Given the description of an element on the screen output the (x, y) to click on. 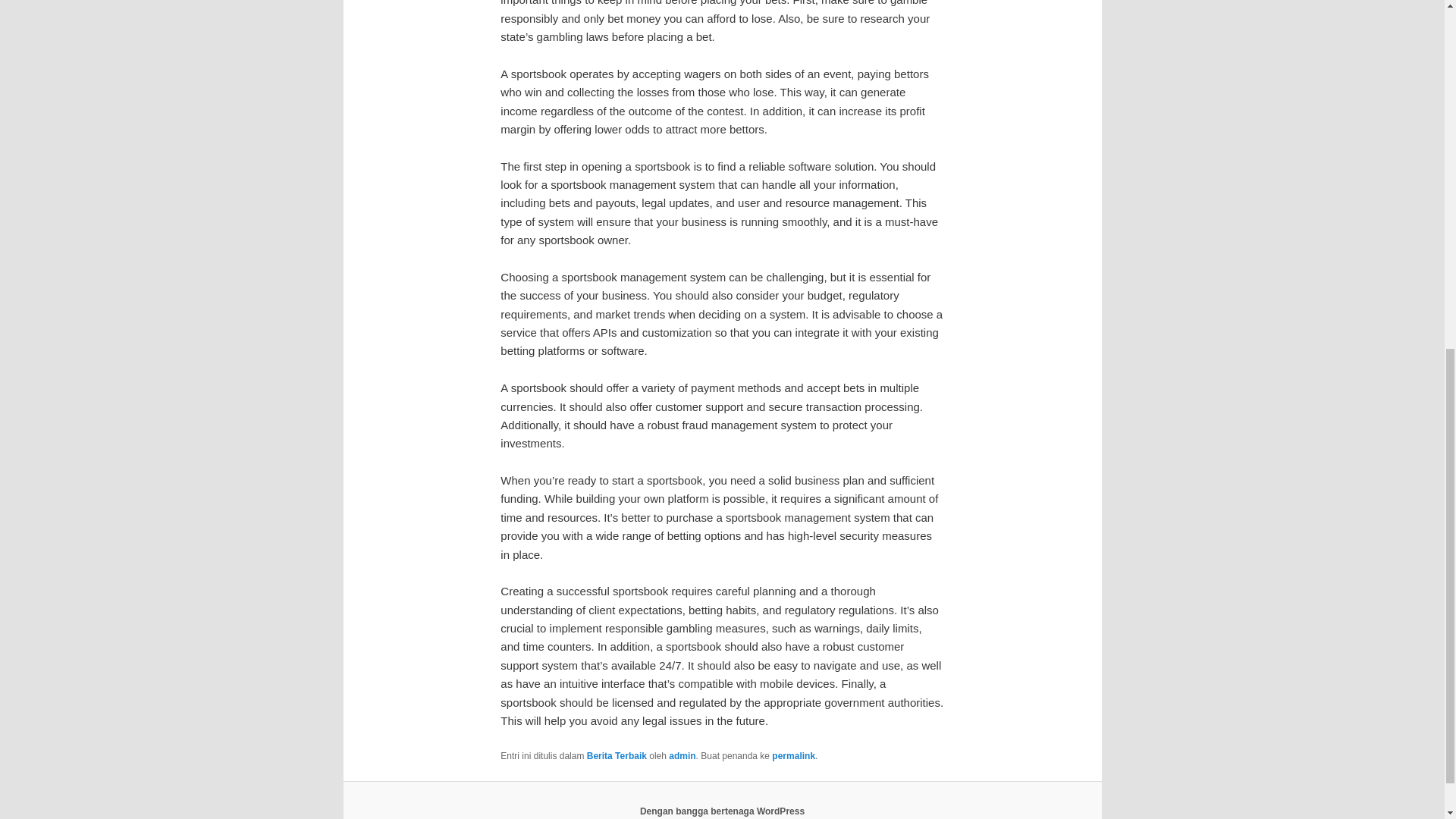
admin (681, 756)
Permalink untuk How to Open a Sportsbook (793, 756)
Platform Penerbitan Semantik Pribadi (722, 810)
permalink (793, 756)
Berita Terbaik (616, 756)
Dengan bangga bertenaga WordPress (722, 810)
